Given the description of an element on the screen output the (x, y) to click on. 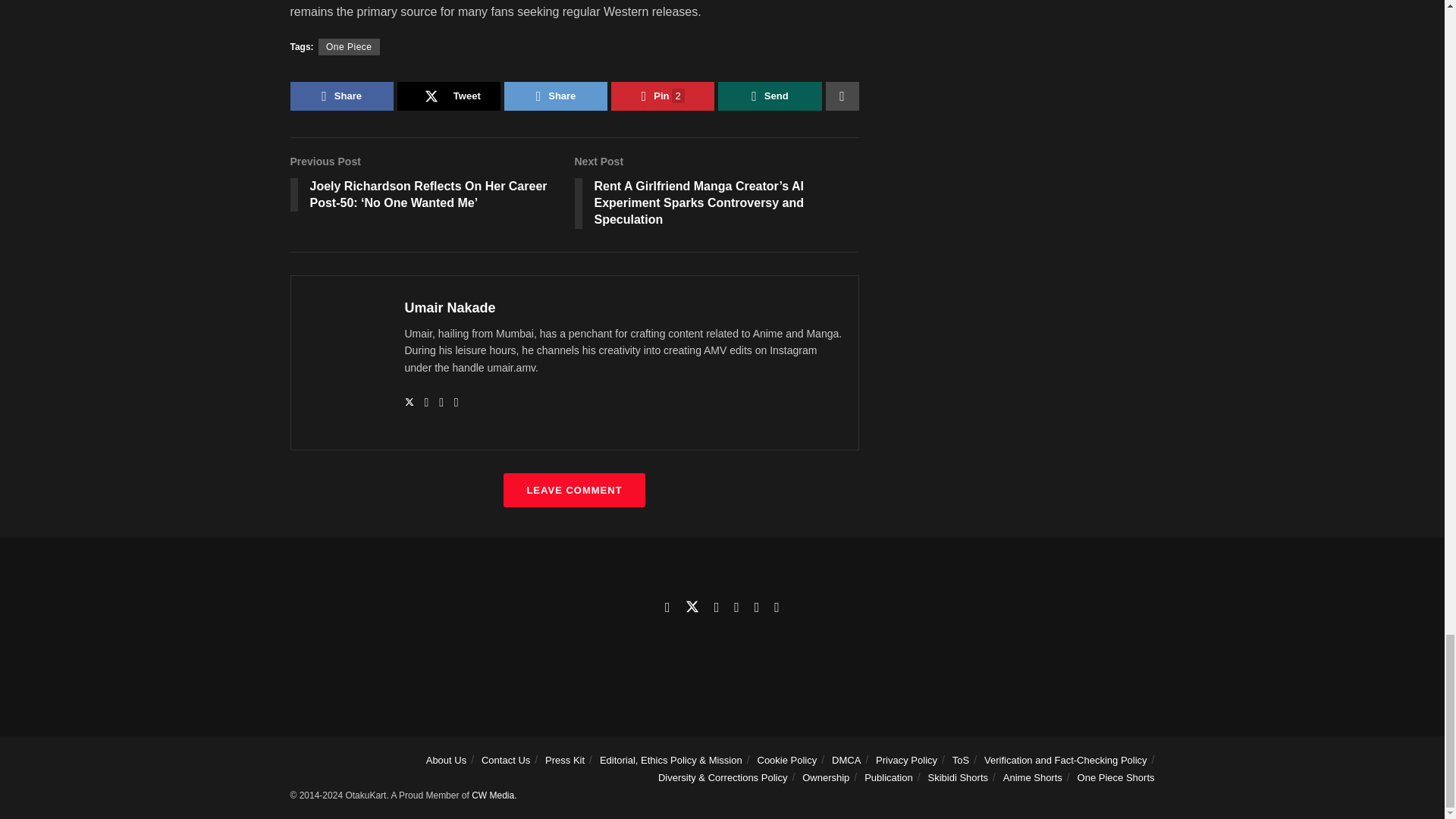
Pin2 (662, 95)
Send (769, 95)
One Piece (349, 46)
Umair Nakade (450, 307)
Tweet (448, 95)
Share (341, 95)
Share (555, 95)
